Given the description of an element on the screen output the (x, y) to click on. 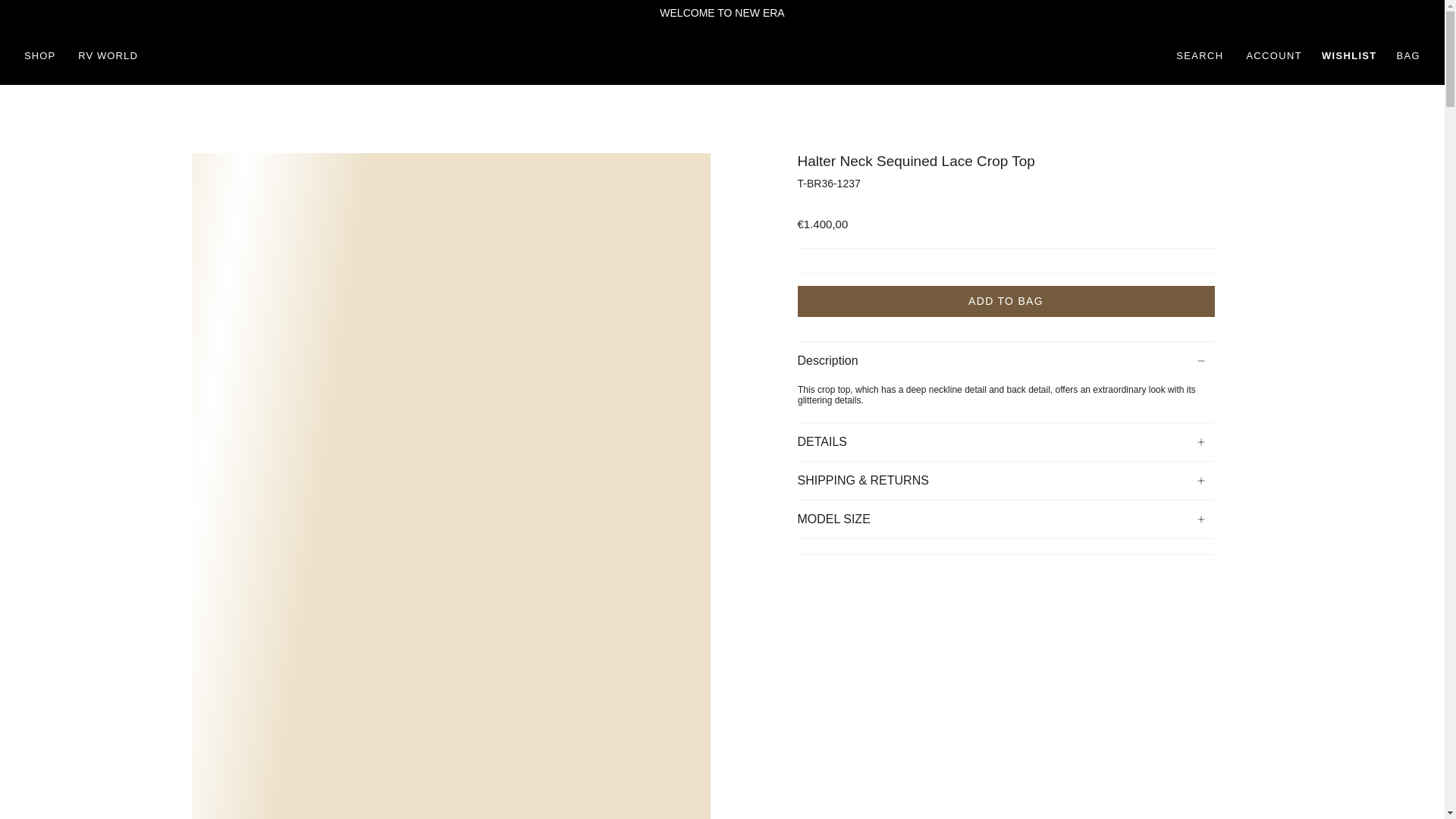
My Account (1273, 55)
Bag (1408, 55)
SHOP (39, 55)
Search (1199, 55)
